Given the description of an element on the screen output the (x, y) to click on. 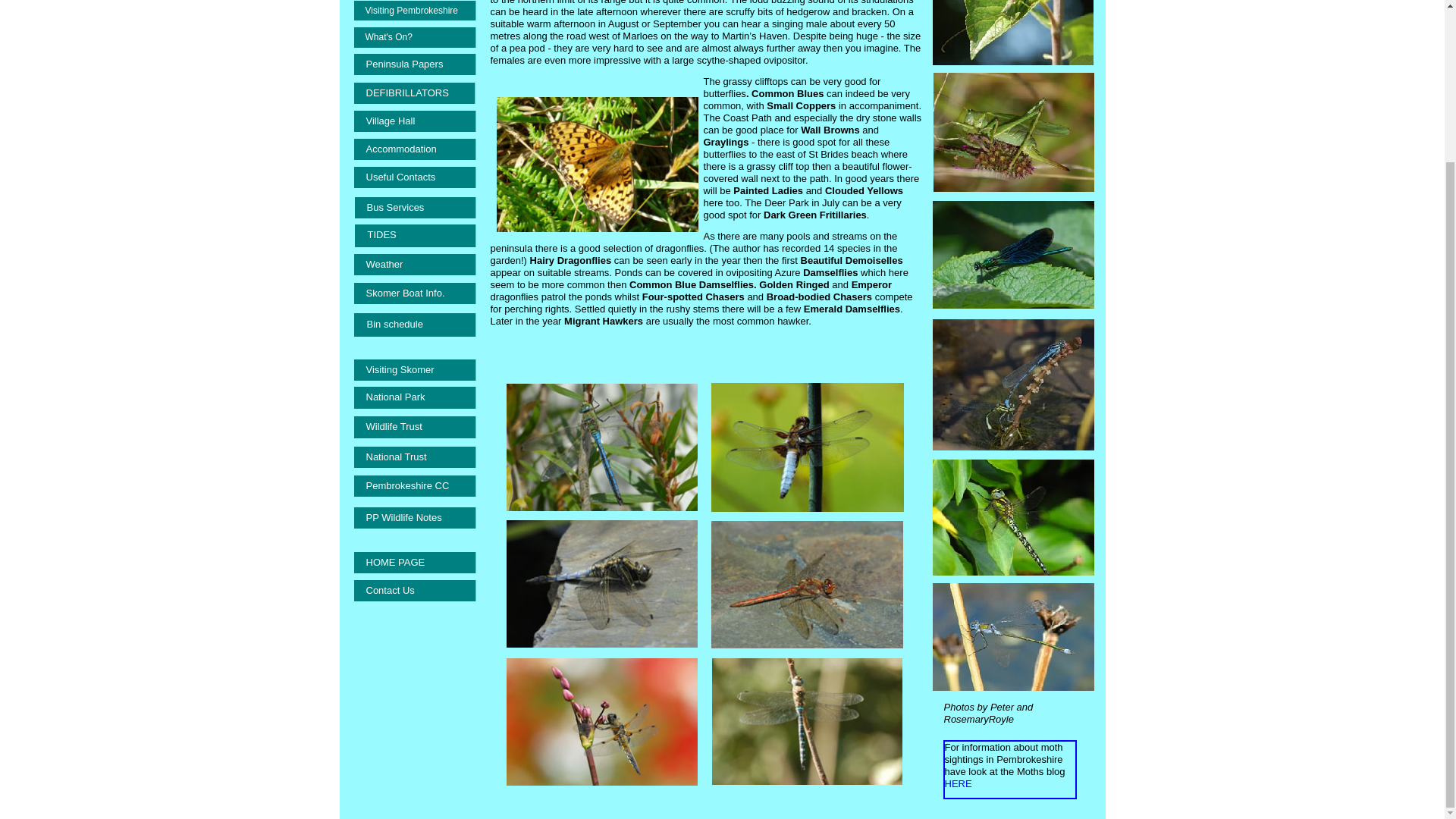
Bus Services (415, 207)
PP Wildlife Notes (414, 517)
National Trust (414, 456)
What's On? (414, 37)
Peninsula Papers (414, 64)
Contact Us (414, 590)
Bin schedule (414, 324)
Visiting Skomer (414, 369)
Weather (414, 264)
HERE (958, 783)
TIDES (415, 235)
HOME PAGE (414, 562)
DEFIBRILLATORS (413, 93)
Wildlife Trust (414, 427)
Pembrokeshire CC (414, 485)
